Given the description of an element on the screen output the (x, y) to click on. 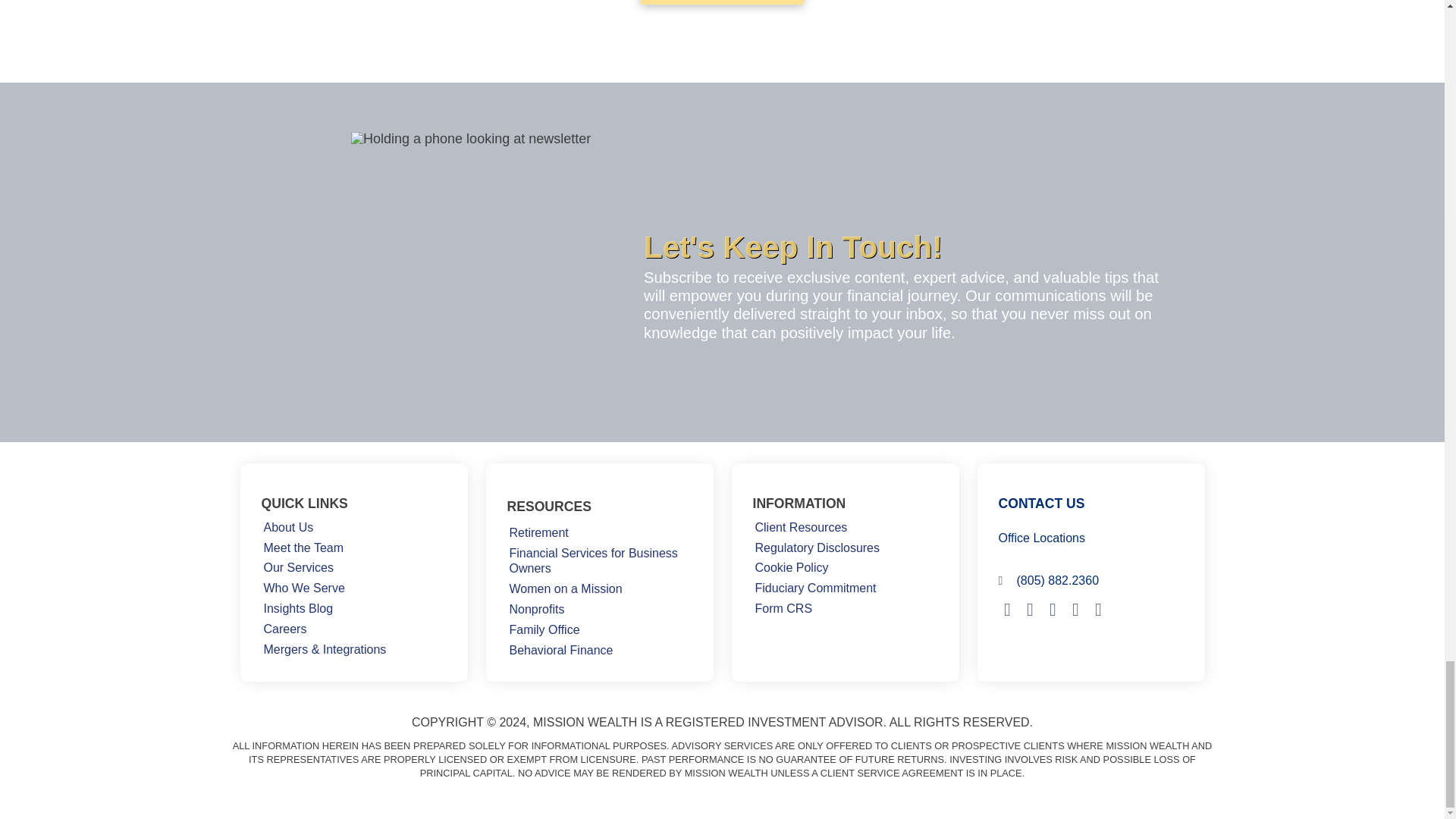
Meet the Team (303, 548)
Financial Services for Business Owners (598, 561)
Careers (284, 629)
VIEW OUR AWARDS (721, 2)
Insights Blog (297, 608)
Our Services (297, 567)
Retirement (538, 533)
About Us (287, 527)
Who We Serve (303, 588)
